Given the description of an element on the screen output the (x, y) to click on. 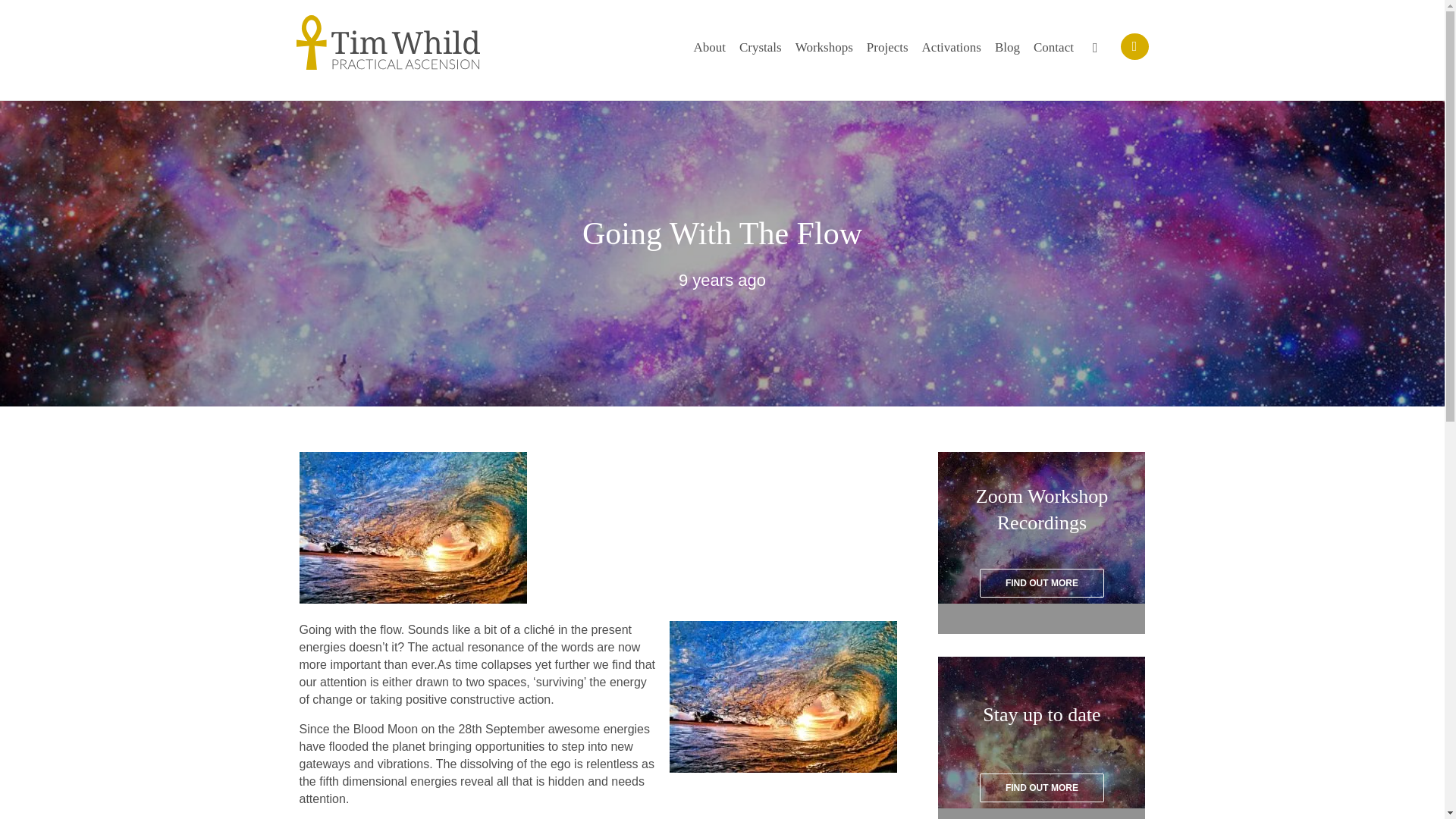
Contact (1053, 47)
FIND OUT MORE (1041, 787)
FIND OUT MORE (1041, 582)
About (709, 47)
Crystals (760, 47)
Projects (887, 47)
Workshops (823, 47)
Activations (951, 47)
Blog (1007, 47)
